Given the description of an element on the screen output the (x, y) to click on. 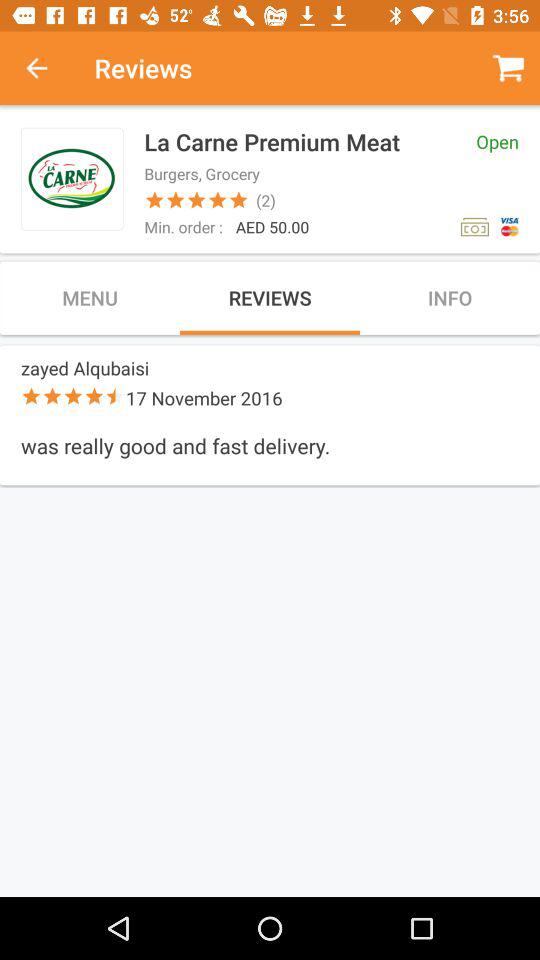
turn on icon next to reviews item (47, 68)
